Given the description of an element on the screen output the (x, y) to click on. 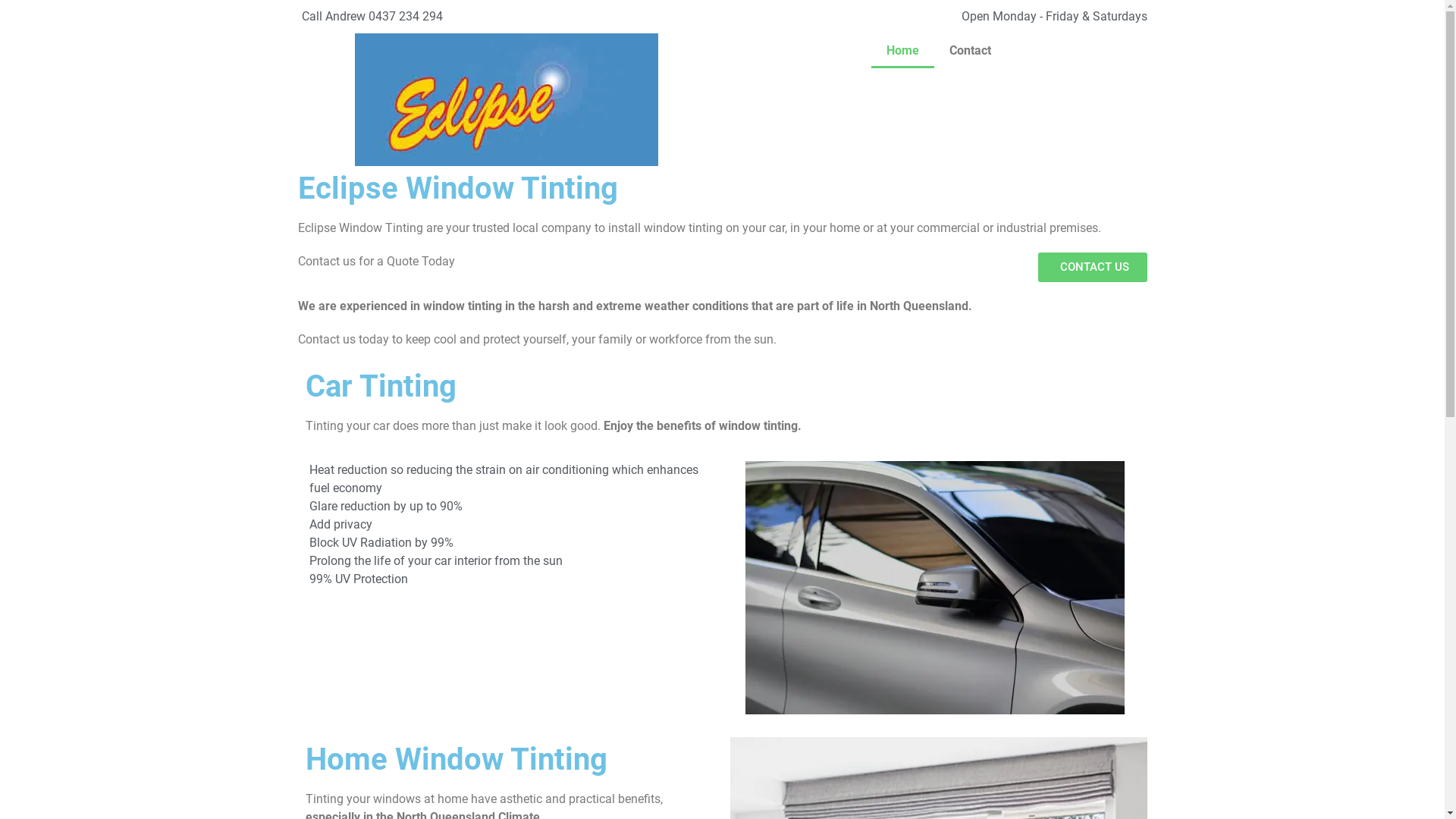
CONTACT US Element type: text (1091, 267)
Call Andrew 0437 234 294 Element type: text (369, 16)
Home Element type: text (901, 50)
Contact Element type: text (970, 50)
